Given the description of an element on the screen output the (x, y) to click on. 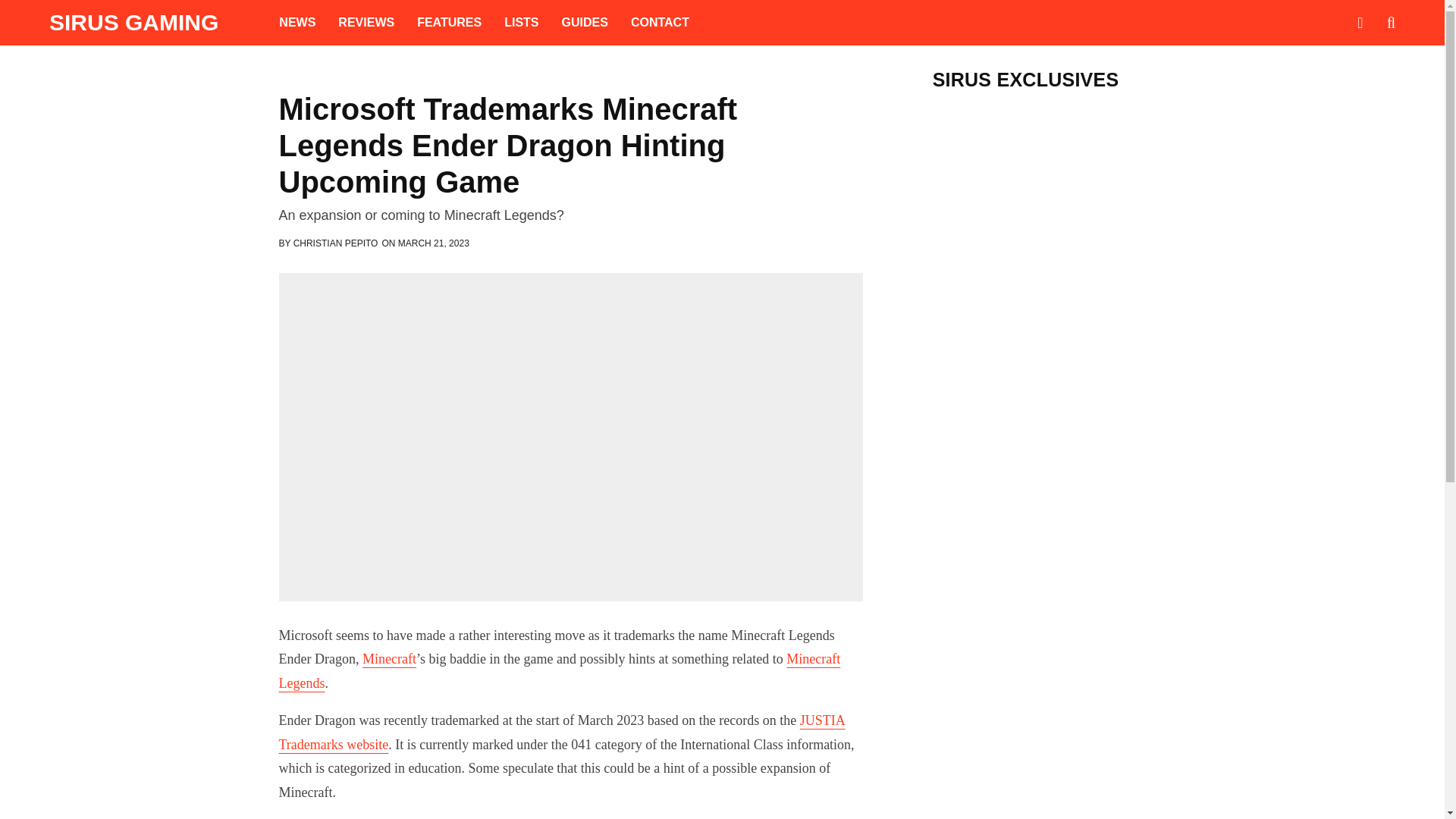
NEWS (296, 22)
LISTS (521, 22)
REVIEWS (366, 22)
SIRUS GAMING (133, 22)
Minecraft Legends (560, 671)
Minecraft (389, 658)
FEATURES (449, 22)
JUSTIA Trademarks website (562, 732)
GUIDES (585, 22)
CONTACT (660, 22)
BY CHRISTIAN PEPITO (328, 243)
